Given the description of an element on the screen output the (x, y) to click on. 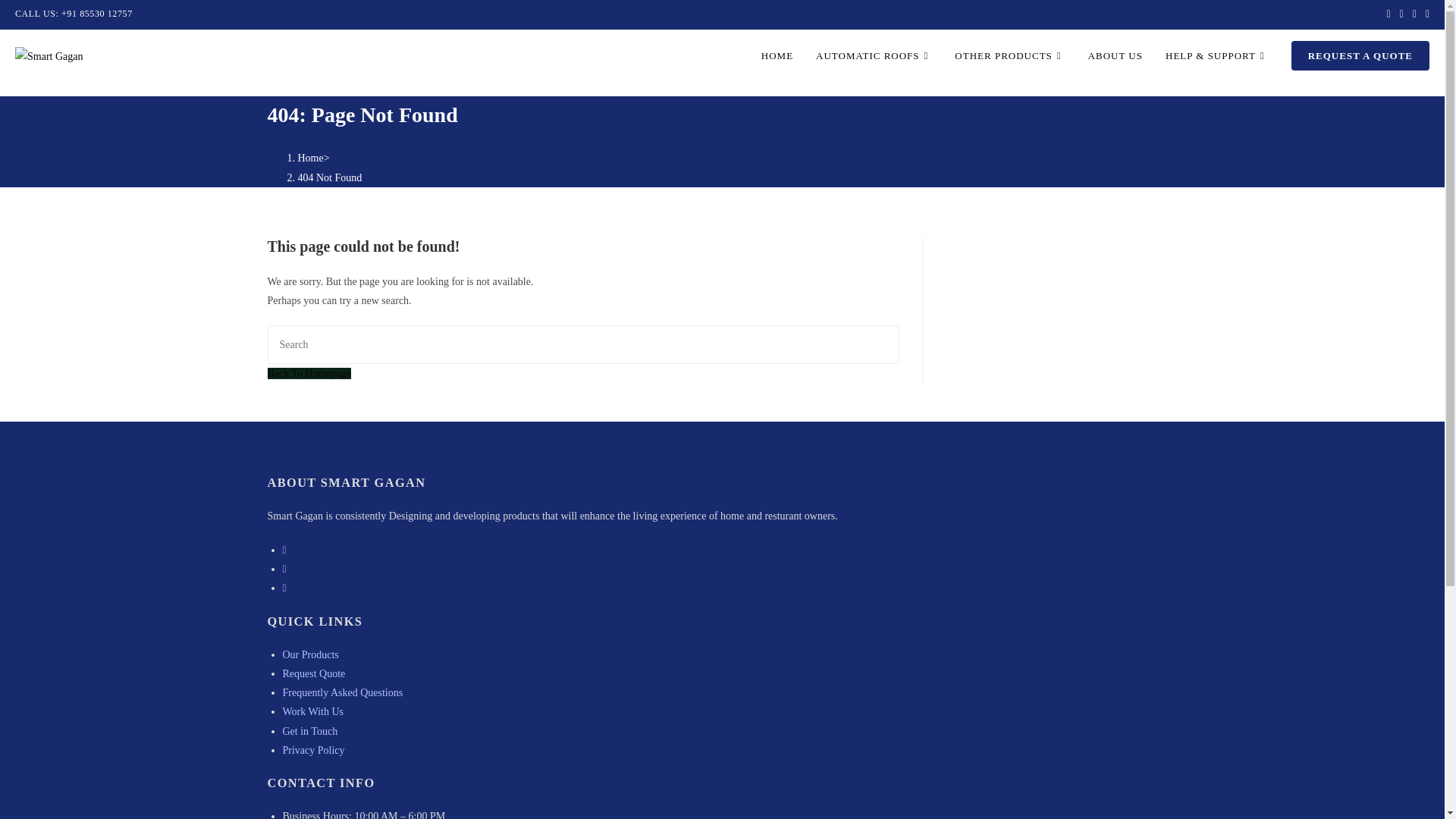
HOME (777, 55)
ABOUT US (1115, 55)
Our Products (309, 654)
Home (310, 157)
OTHER PRODUCTS (1009, 55)
AUTOMATIC ROOFS (874, 55)
Back To Homepage (308, 373)
REQUEST A QUOTE (1360, 55)
